Given the description of an element on the screen output the (x, y) to click on. 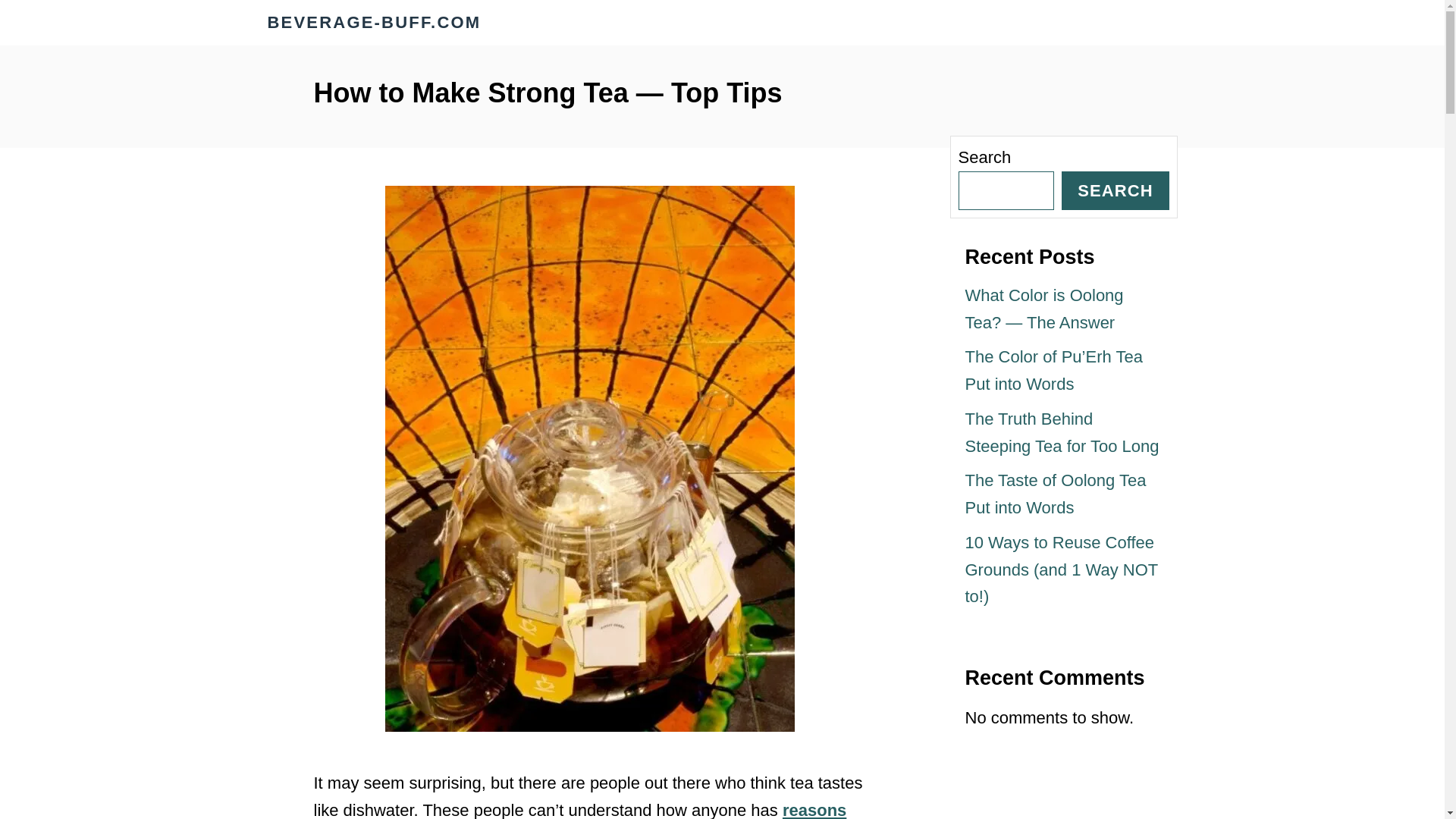
SEARCH (1115, 190)
The Taste of Oolong Tea Put into Words (1054, 493)
beverage-buff.com (403, 22)
reasons for drinking tea (580, 809)
BEVERAGE-BUFF.COM (403, 22)
The Truth Behind Steeping Tea for Too Long (1060, 432)
